Given the description of an element on the screen output the (x, y) to click on. 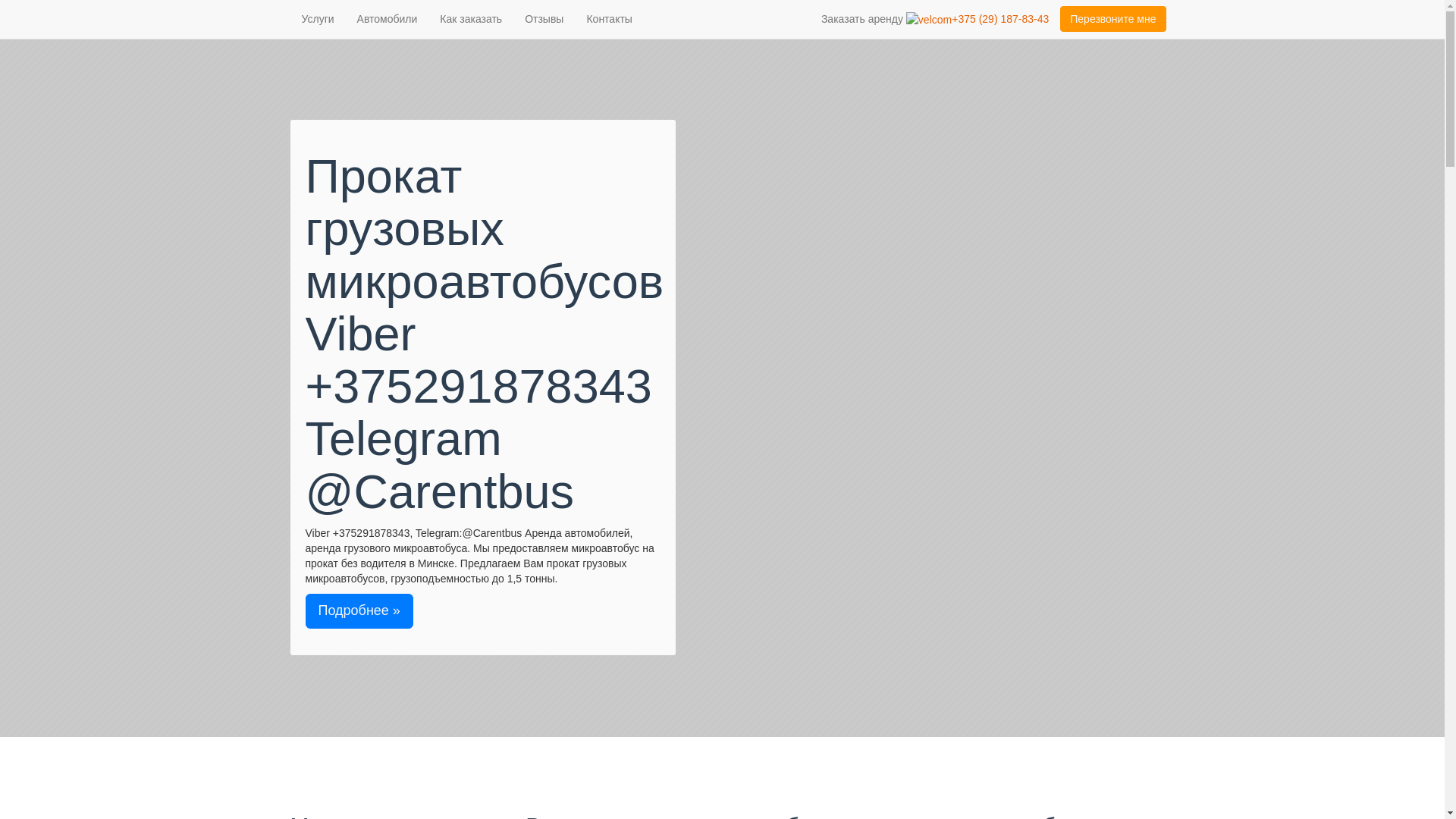
+375 (29) 187-83-43 Element type: text (977, 18)
